Given the description of an element on the screen output the (x, y) to click on. 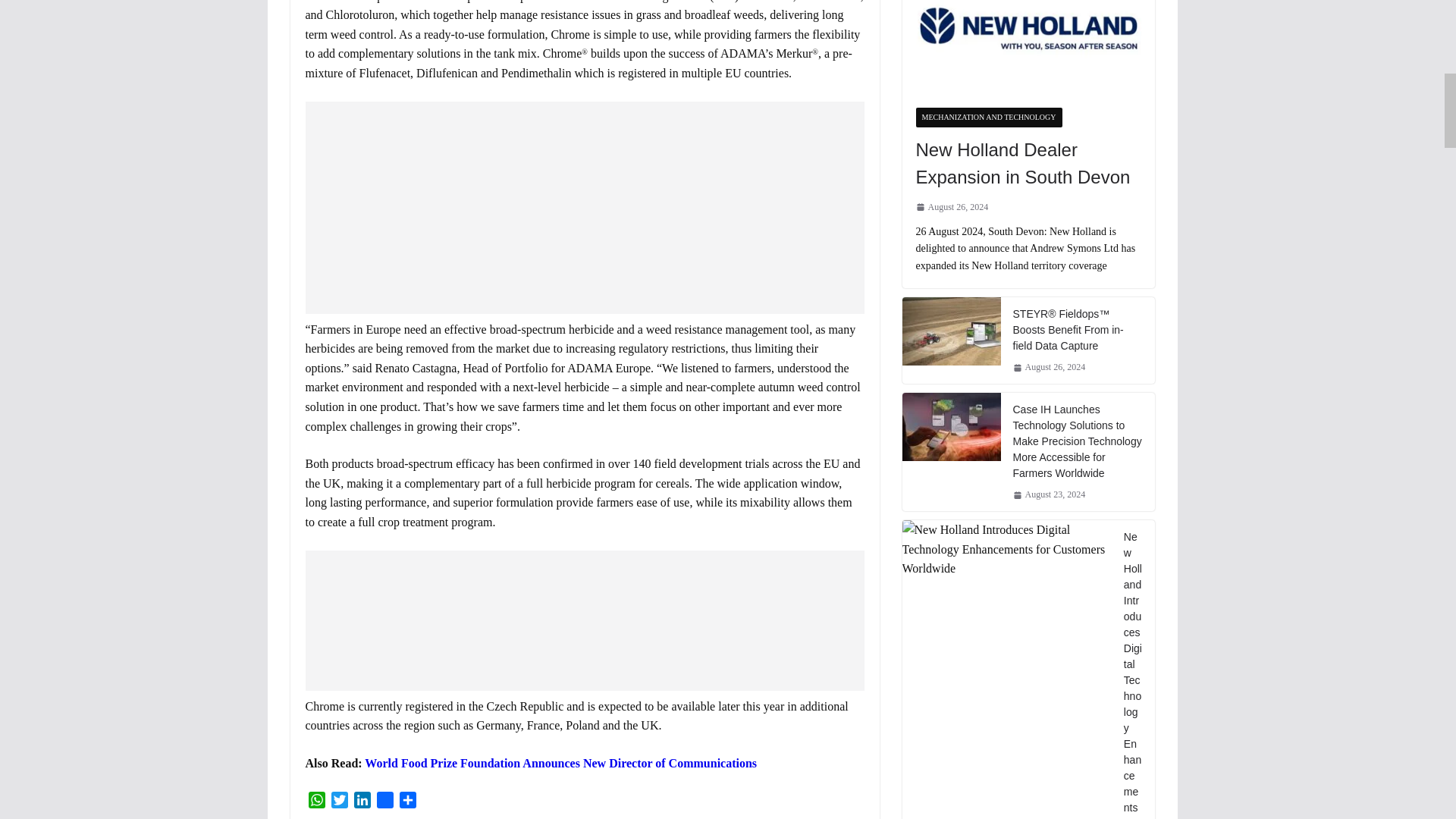
WhatsApp (315, 802)
Twitter (338, 802)
LinkedIn (361, 802)
Facebook (384, 802)
